Given the description of an element on the screen output the (x, y) to click on. 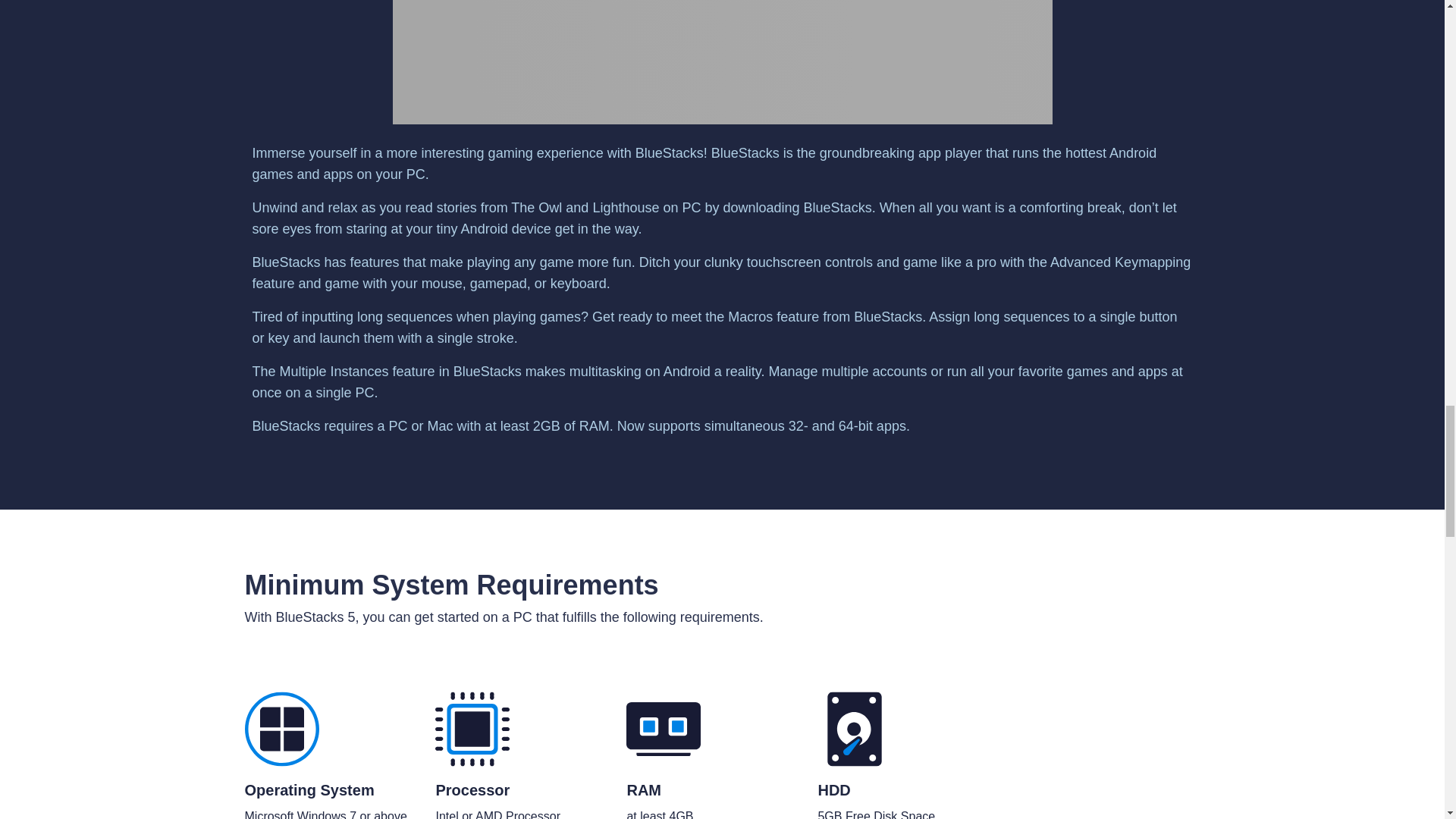
how-to-play-steps - desktop (722, 62)
